Given the description of an element on the screen output the (x, y) to click on. 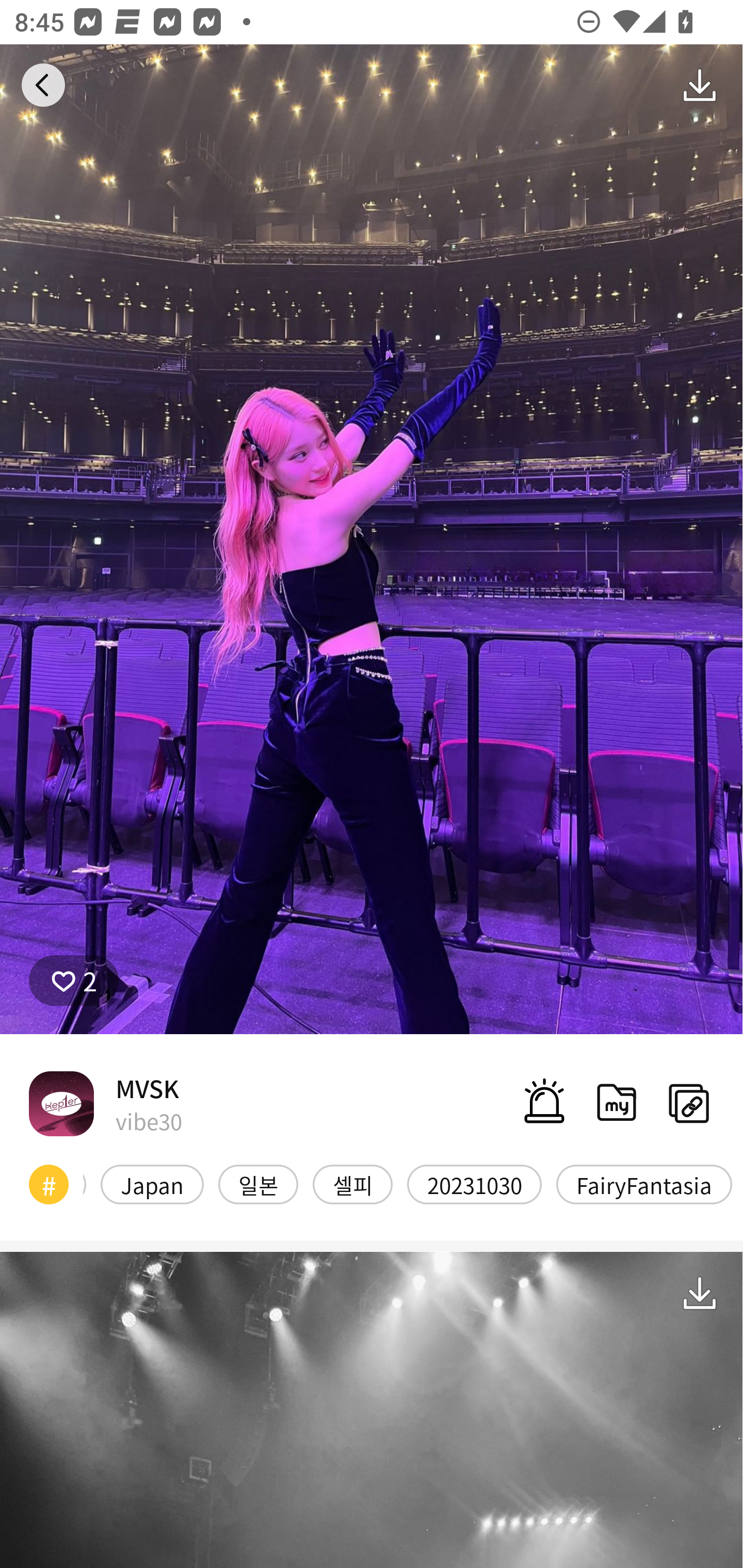
2 (73, 980)
MVSK vibe30 (105, 1102)
Japan (151, 1184)
일본 (257, 1184)
셀피 (352, 1184)
20231030 (474, 1184)
FairyFantasia (643, 1184)
